Given the description of an element on the screen output the (x, y) to click on. 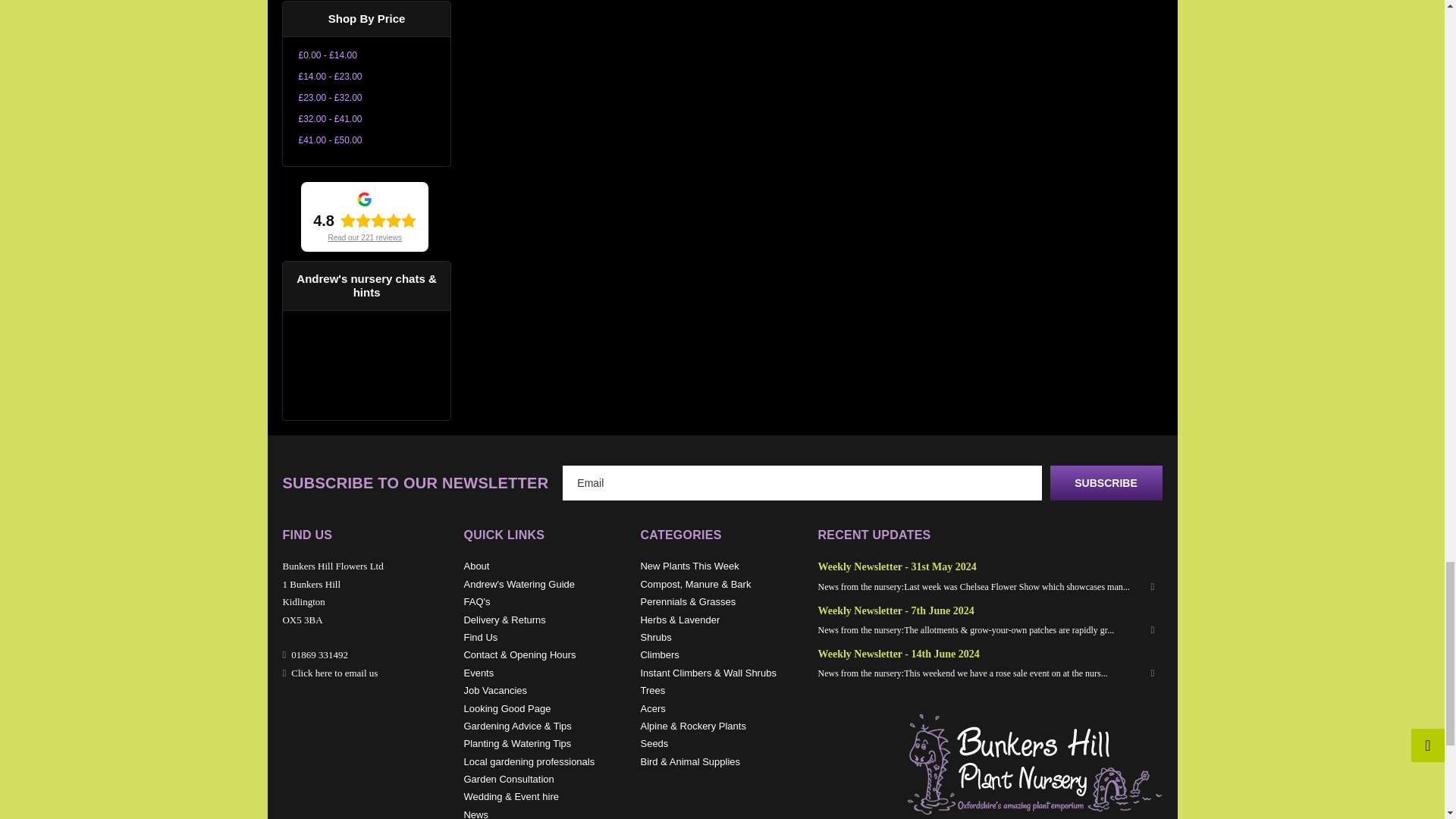
Subscribe (1105, 483)
